Given the description of an element on the screen output the (x, y) to click on. 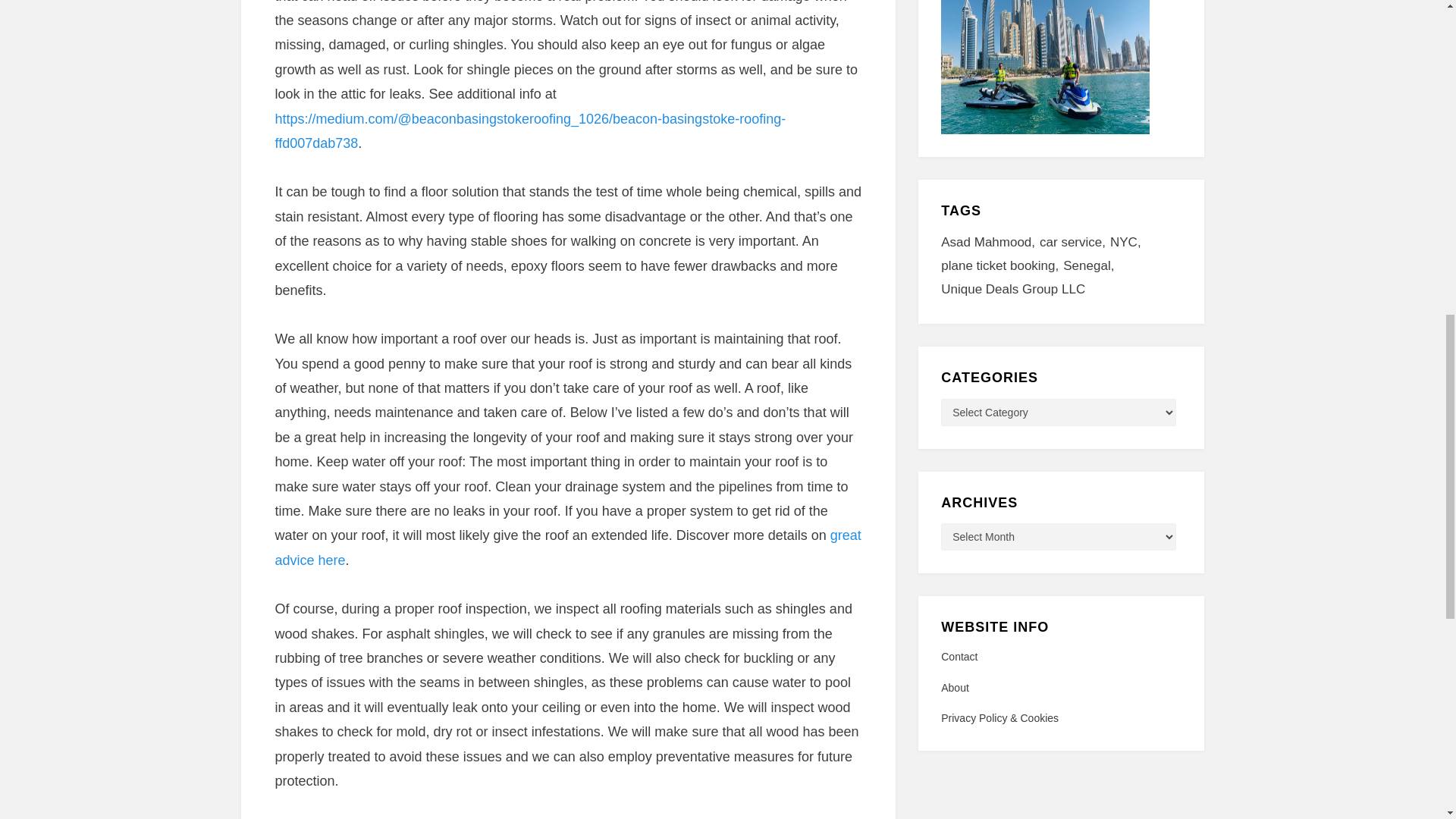
Contact (1060, 656)
Senegal (1090, 266)
great advice here (567, 547)
About (1060, 687)
plane ticket booking (1001, 266)
car service (1074, 242)
Asad Mahmood (989, 242)
NYC (1127, 242)
Unique Deals Group LLC (1012, 290)
